Given the description of an element on the screen output the (x, y) to click on. 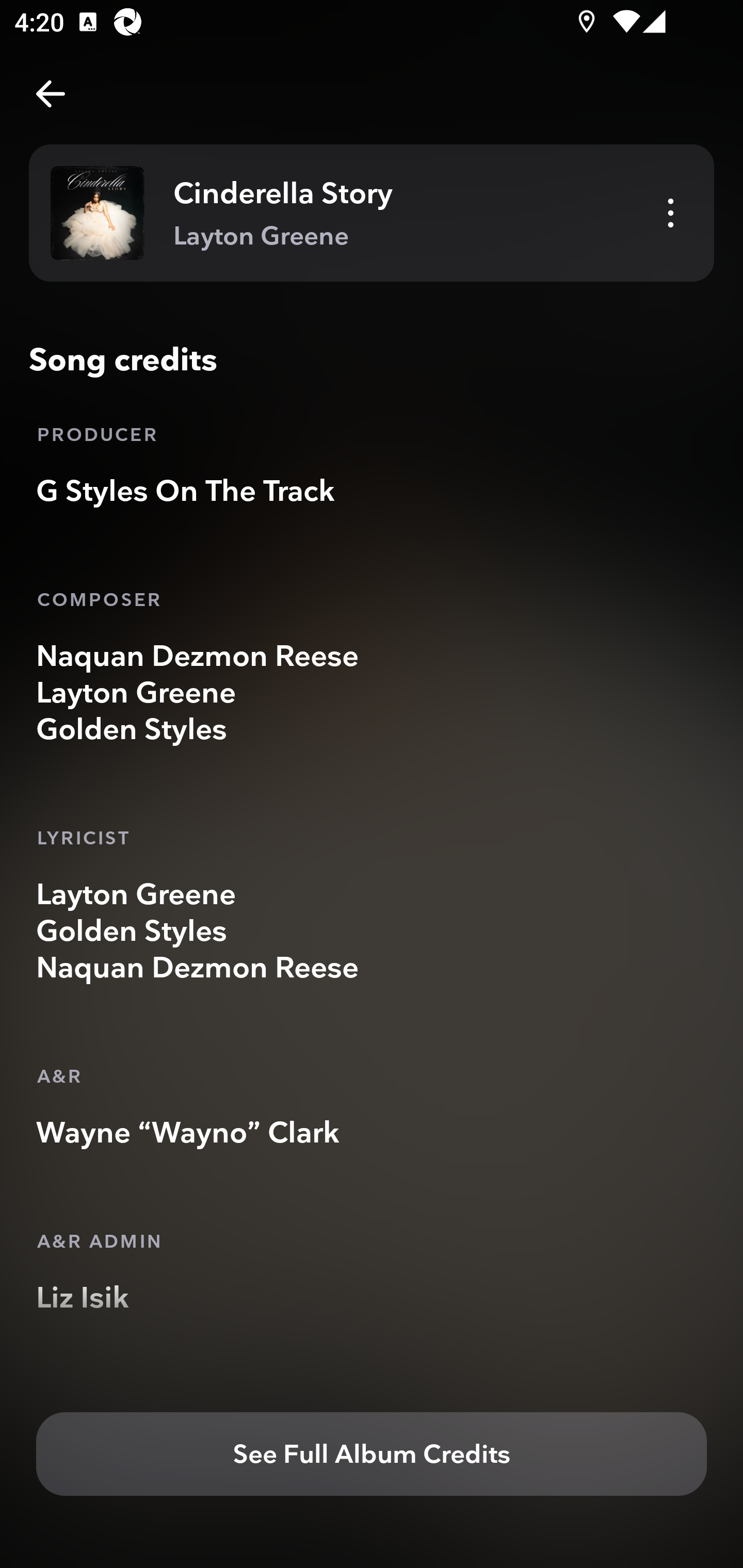
Cinderella Story Layton Greene (371, 213)
PRODUCER G Styles On The Track
 (371, 461)
A&R Wayne “Wayno” Clark
 (371, 1103)
A&R ADMIN Liz Isik
 (371, 1268)
See Full Album Credits (371, 1453)
